Given the description of an element on the screen output the (x, y) to click on. 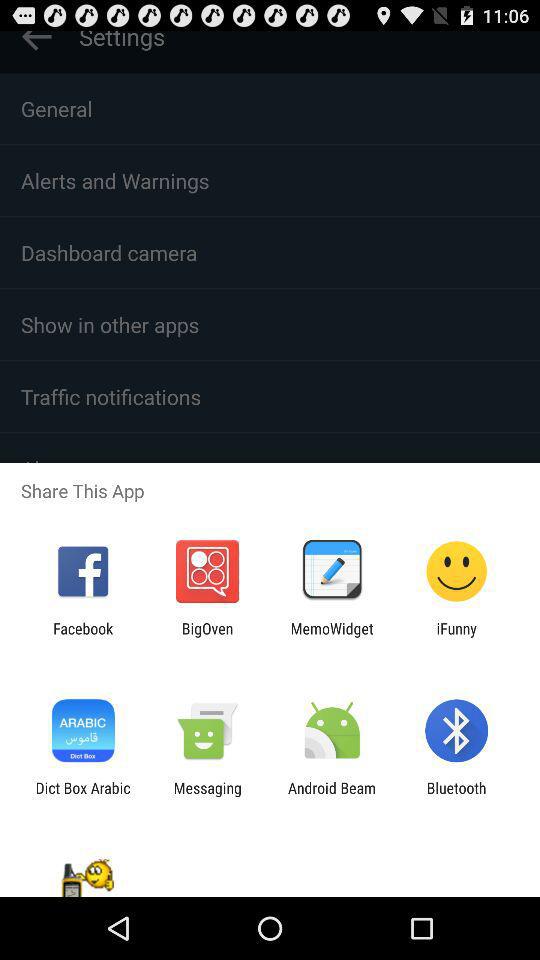
click the icon to the right of the messaging item (332, 796)
